Given the description of an element on the screen output the (x, y) to click on. 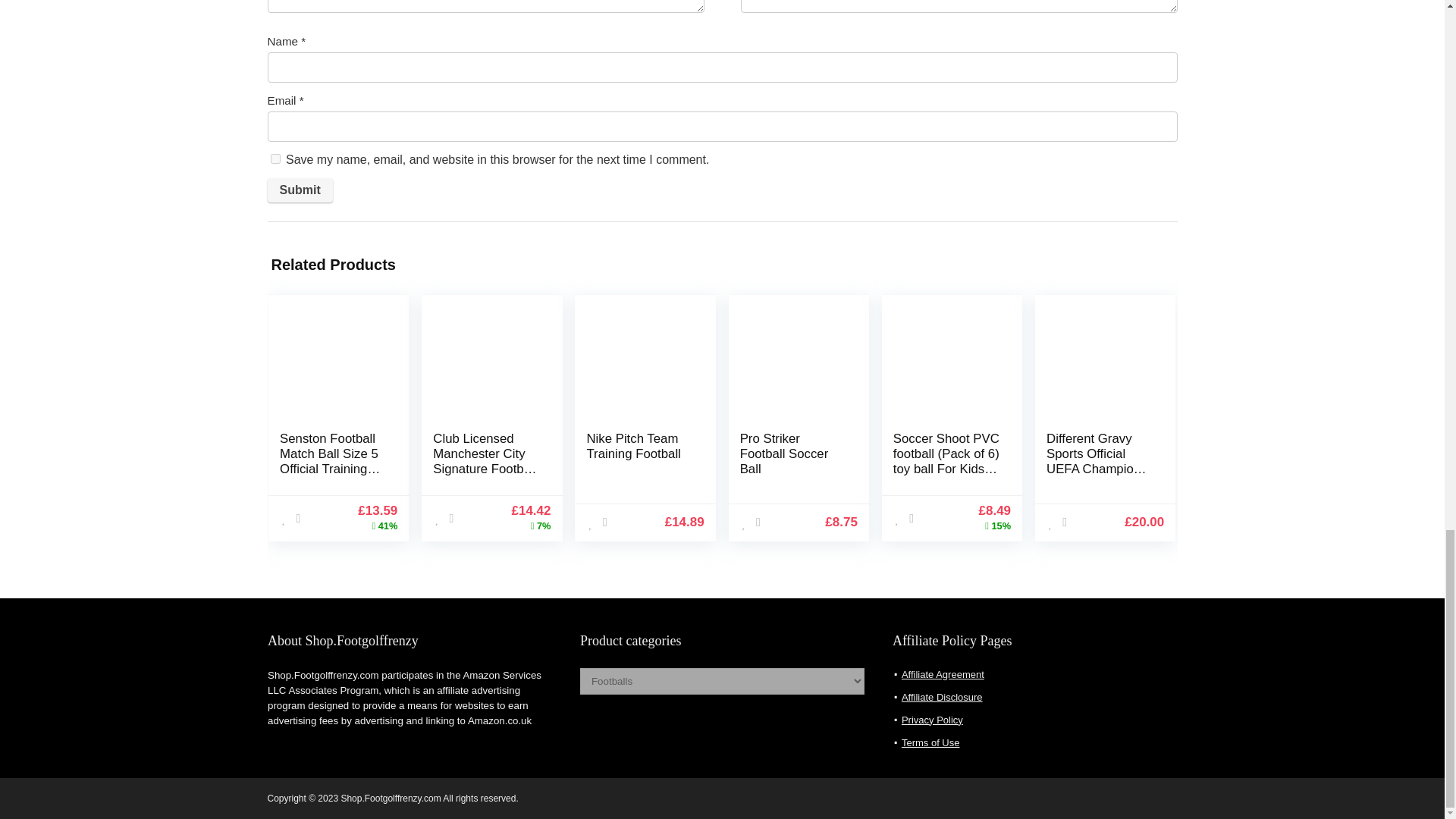
Submit (298, 190)
Pro Striker Football Soccer Ball (783, 453)
Submit (298, 190)
yes (274, 158)
Affiliate Agreement (942, 674)
Nike Pitch Team Training Football (632, 446)
